Given the description of an element on the screen output the (x, y) to click on. 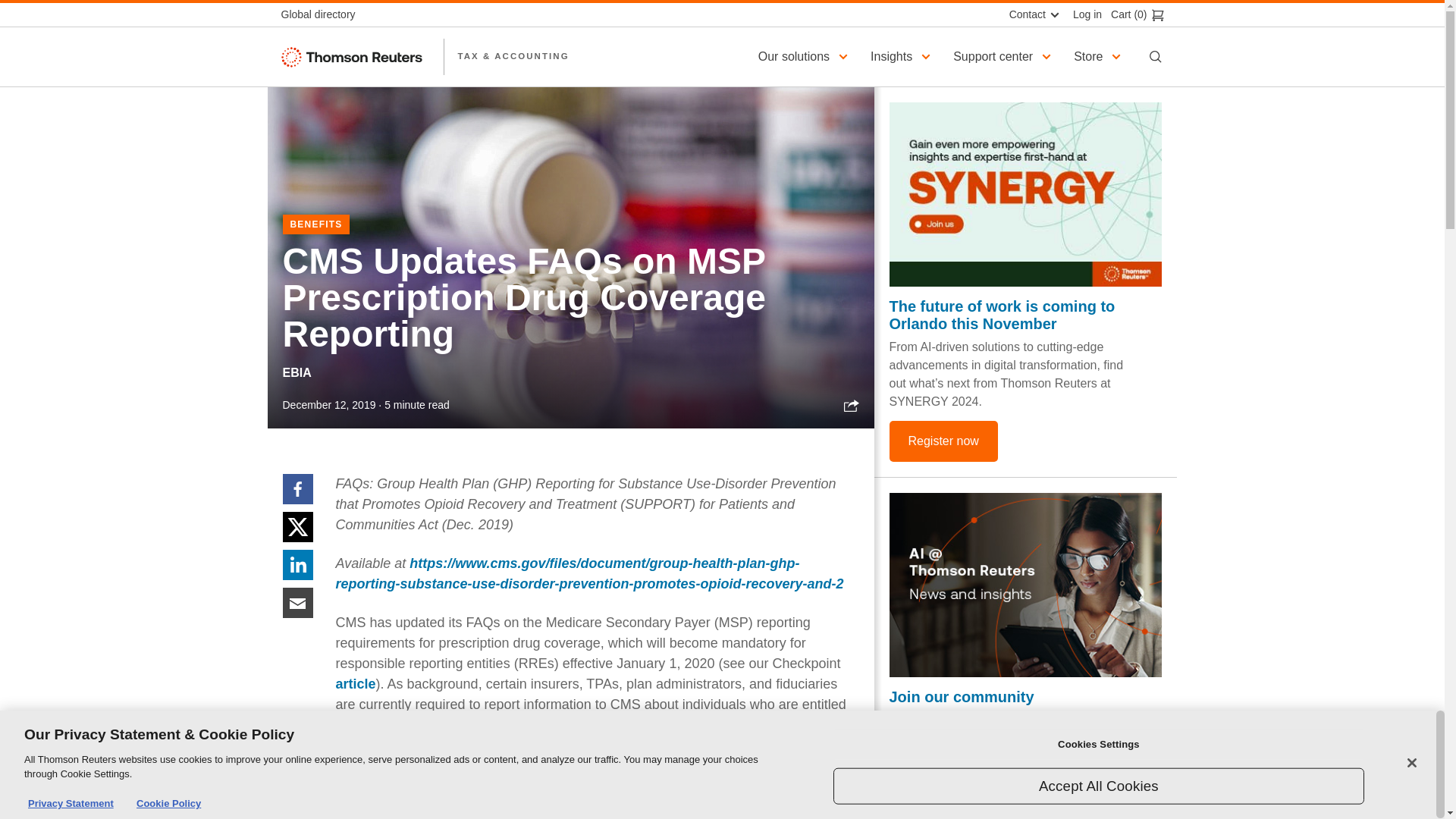
Global directory (322, 14)
December 12, 2019 (328, 404)
Email (297, 601)
Thomson Reuters (355, 56)
Our solutions (805, 56)
Linkedin (297, 563)
Log in (1083, 14)
Twitter (297, 525)
Facebook (297, 487)
Contact (1032, 14)
